Given the description of an element on the screen output the (x, y) to click on. 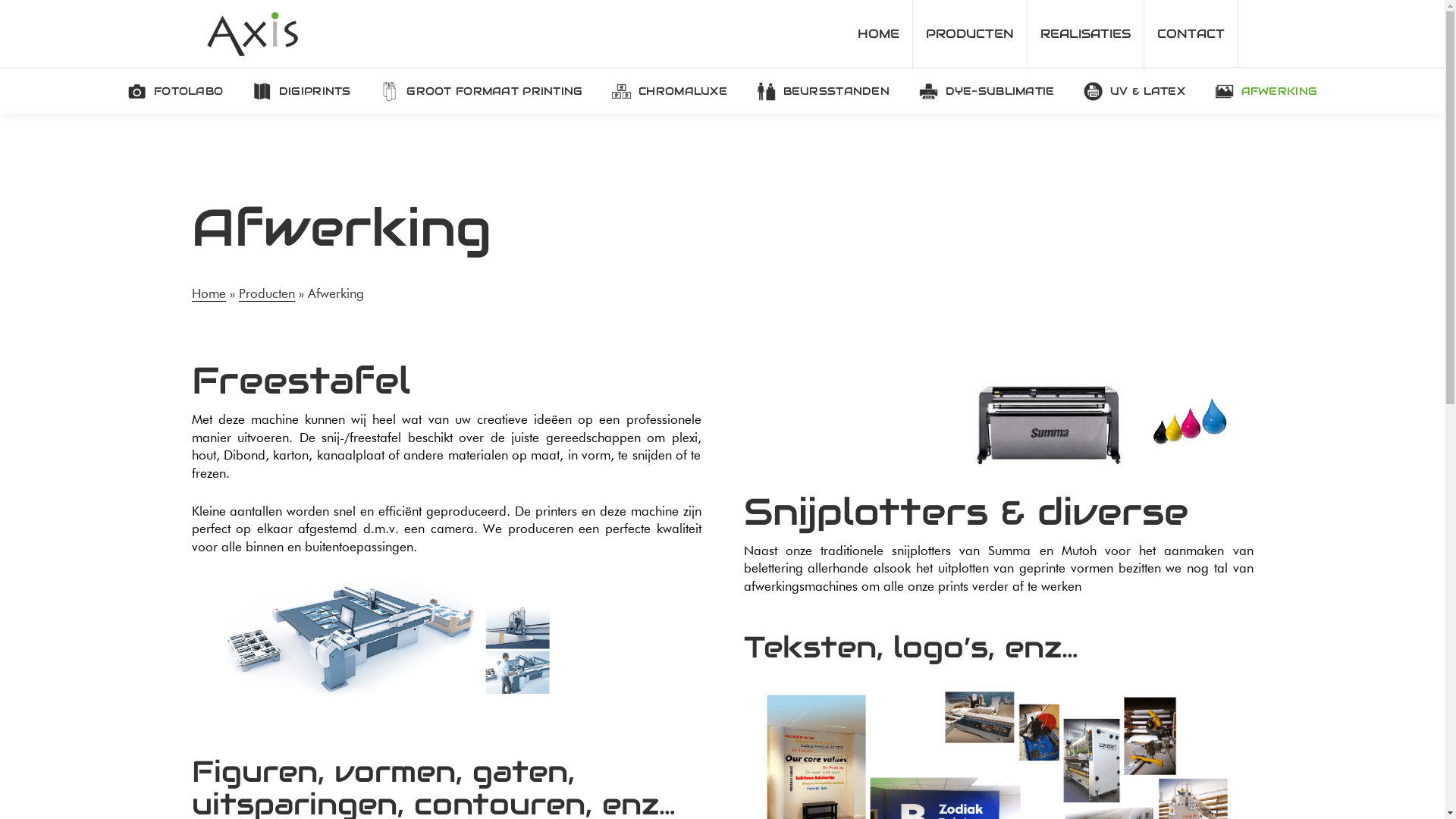
CONTACT Element type: text (1190, 34)
HOME Element type: text (878, 34)
FOTOLABO Element type: text (174, 90)
PRODUCTEN Element type: text (970, 34)
Home Element type: text (208, 293)
DIGIPRINTS Element type: text (301, 90)
REALISATIES Element type: text (1084, 34)
BEURSSTANDEN Element type: text (822, 90)
AFWERKING Element type: text (1265, 90)
CHROMALUXE Element type: text (669, 90)
Producten Element type: text (266, 293)
DYE-SUBLIMATIE Element type: text (986, 90)
UV & LATEX Element type: text (1134, 90)
GROOT FORMAAT PRINTING Element type: text (481, 90)
